Given the description of an element on the screen output the (x, y) to click on. 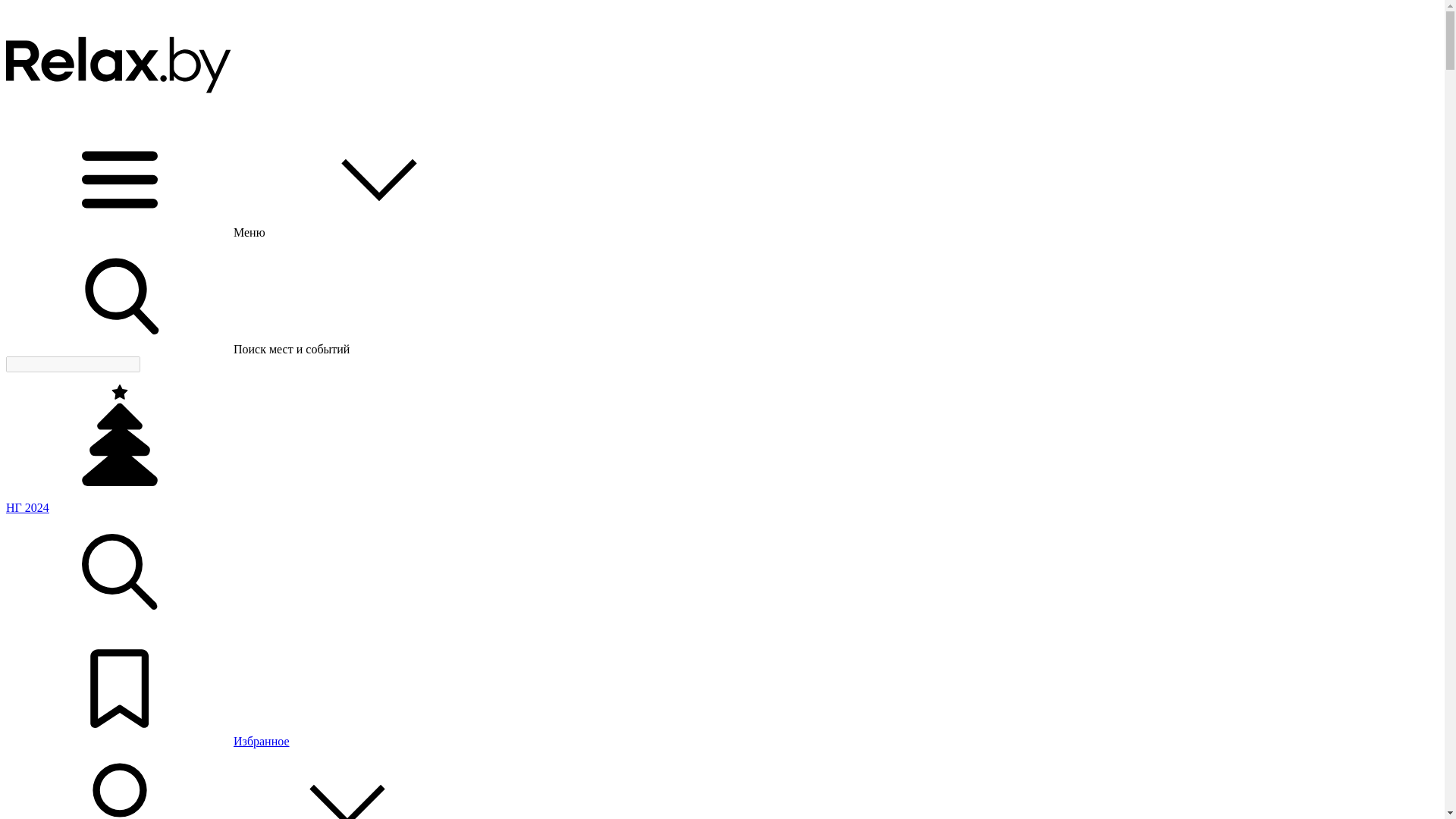
logo Element type: hover (119, 115)
logo Element type: hover (119, 62)
